Given the description of an element on the screen output the (x, y) to click on. 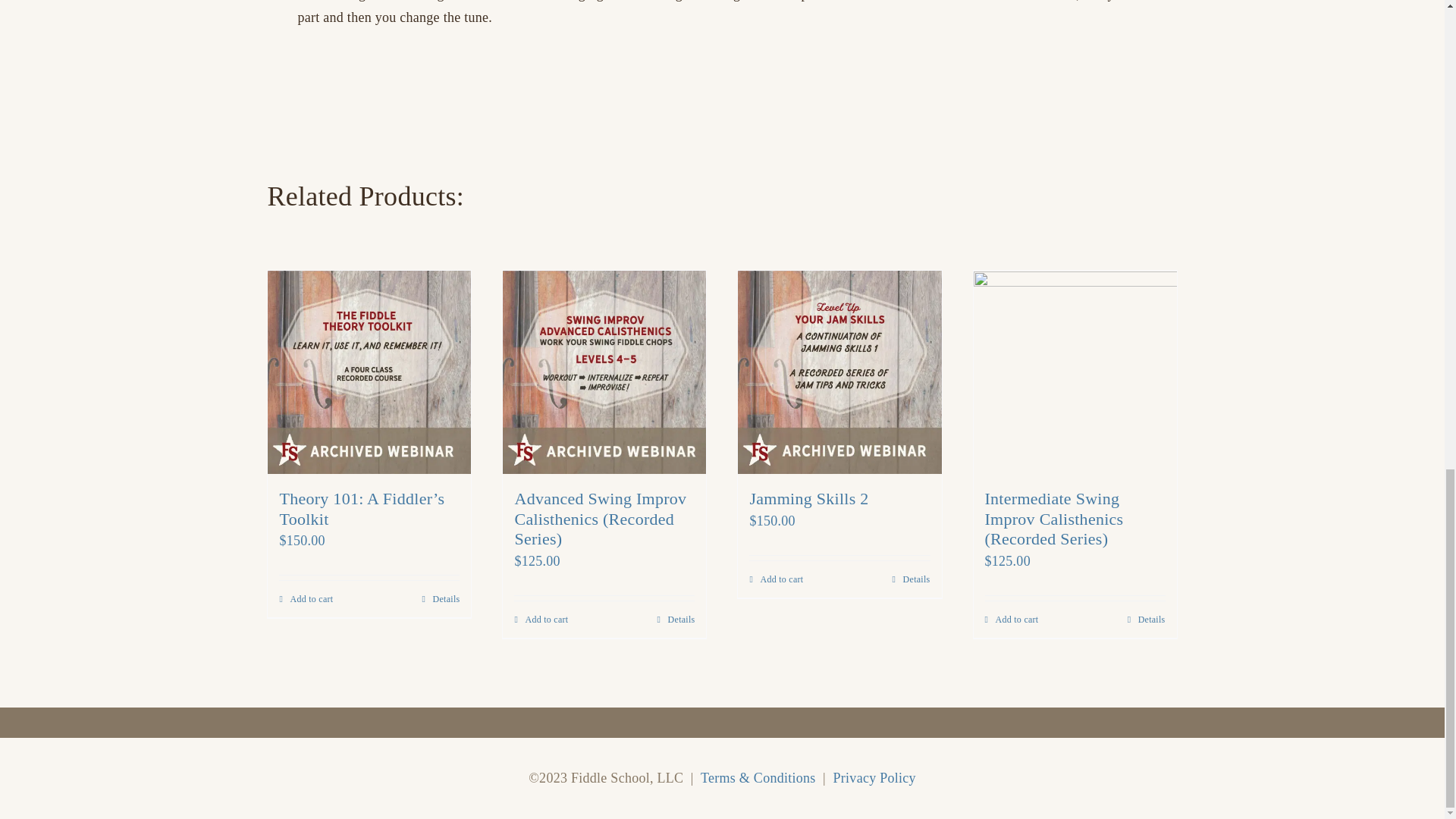
Details (1146, 619)
Details (911, 579)
Privacy Policy (873, 777)
Add to cart (540, 619)
Details (676, 619)
Jamming Skills 2 (808, 497)
Add to cart (306, 599)
Add to cart (776, 579)
Details (441, 599)
Add to cart (1011, 619)
